Given the description of an element on the screen output the (x, y) to click on. 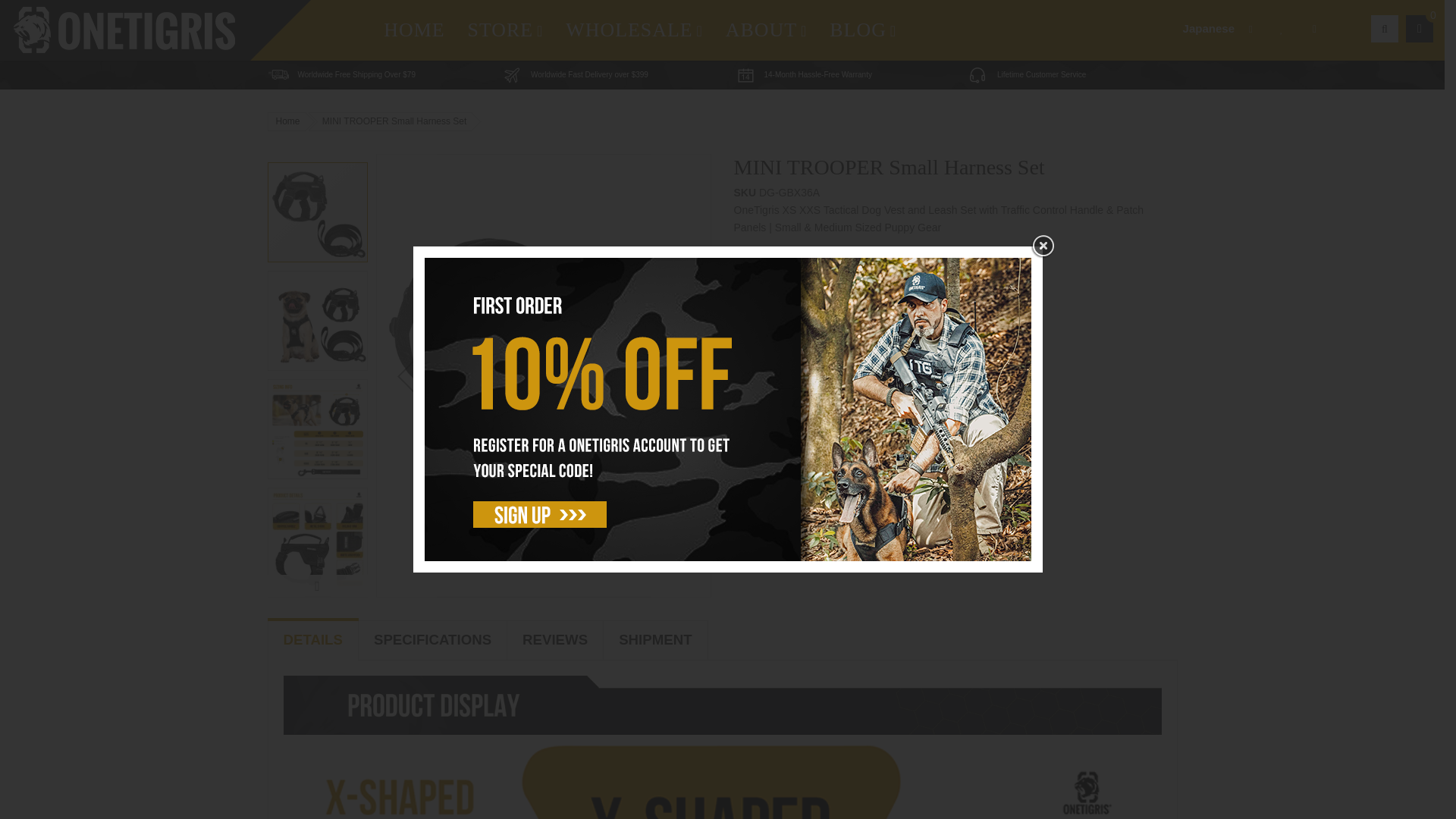
1 (826, 494)
HOME (413, 30)
STORE (504, 30)
